Given the description of an element on the screen output the (x, y) to click on. 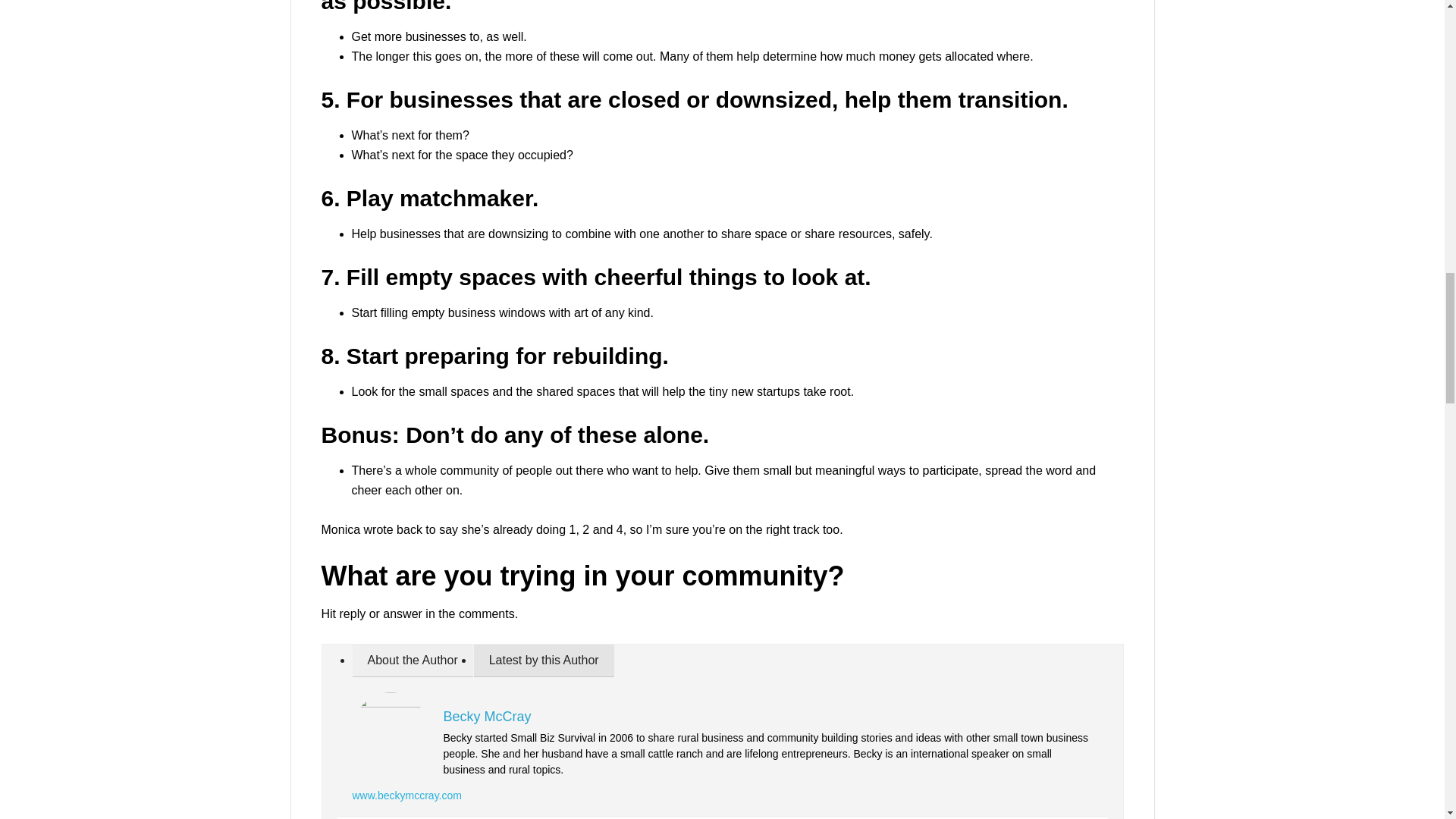
Becky McCray (486, 716)
www.beckymccray.com (406, 795)
